Given the description of an element on the screen output the (x, y) to click on. 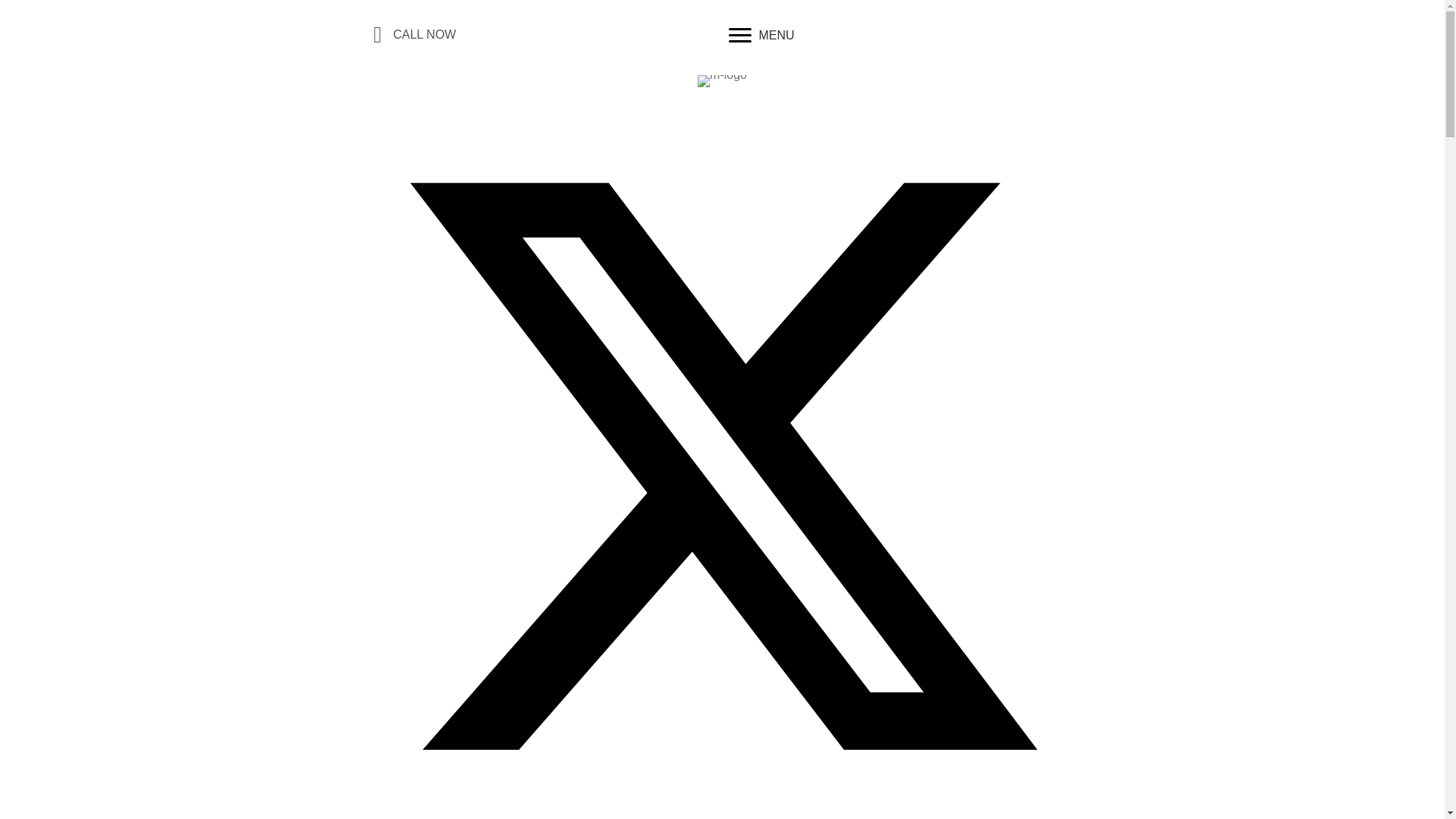
MENU (760, 35)
CALL NOW (424, 34)
m-logo (721, 80)
